Given the description of an element on the screen output the (x, y) to click on. 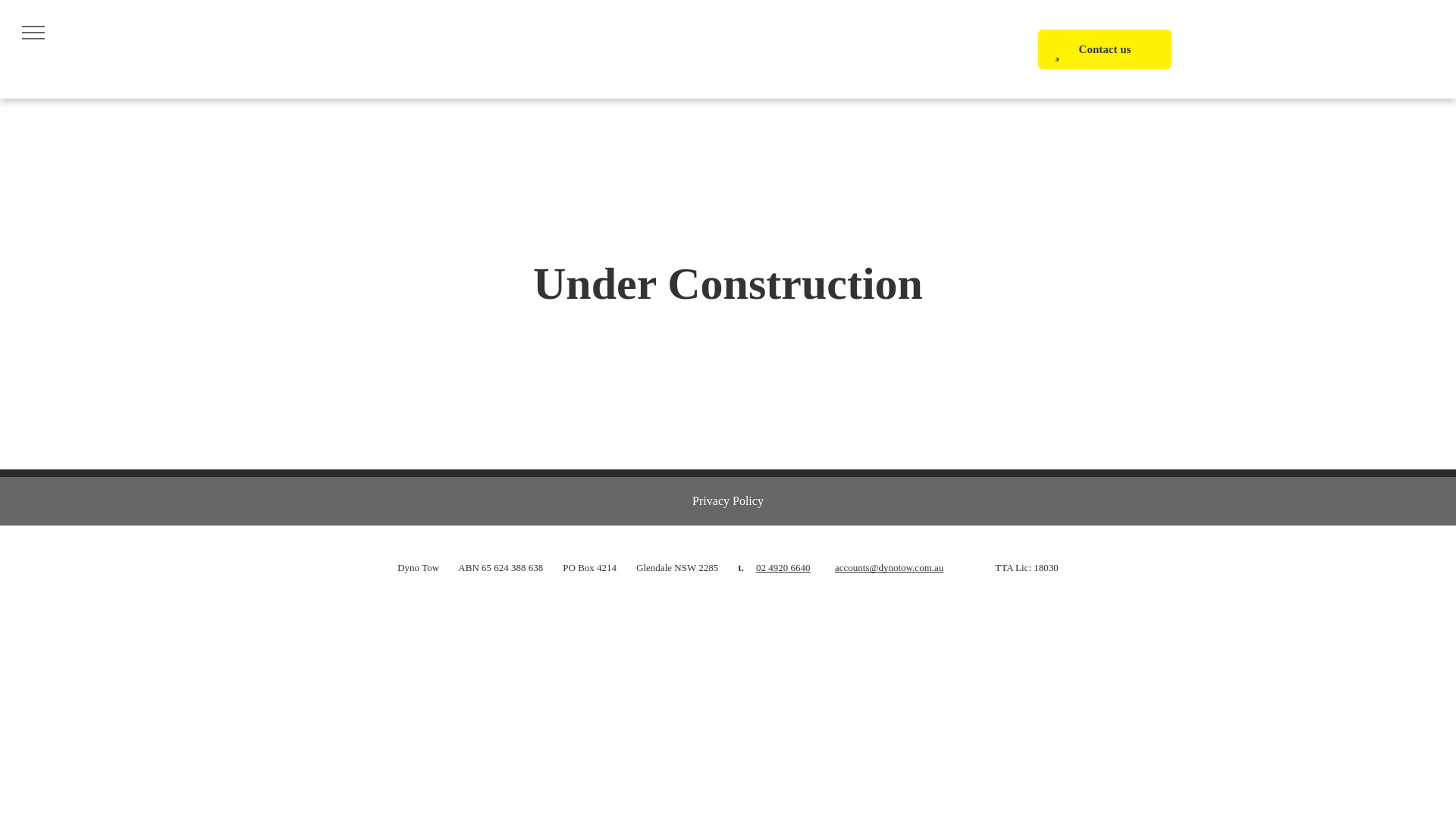
02 4920 6640 Element type: text (783, 567)
Privacy Policy Element type: text (727, 500)
accounts@dynotow.com.au Element type: text (888, 567)
Contact us Element type: text (1104, 49)
